Given the description of an element on the screen output the (x, y) to click on. 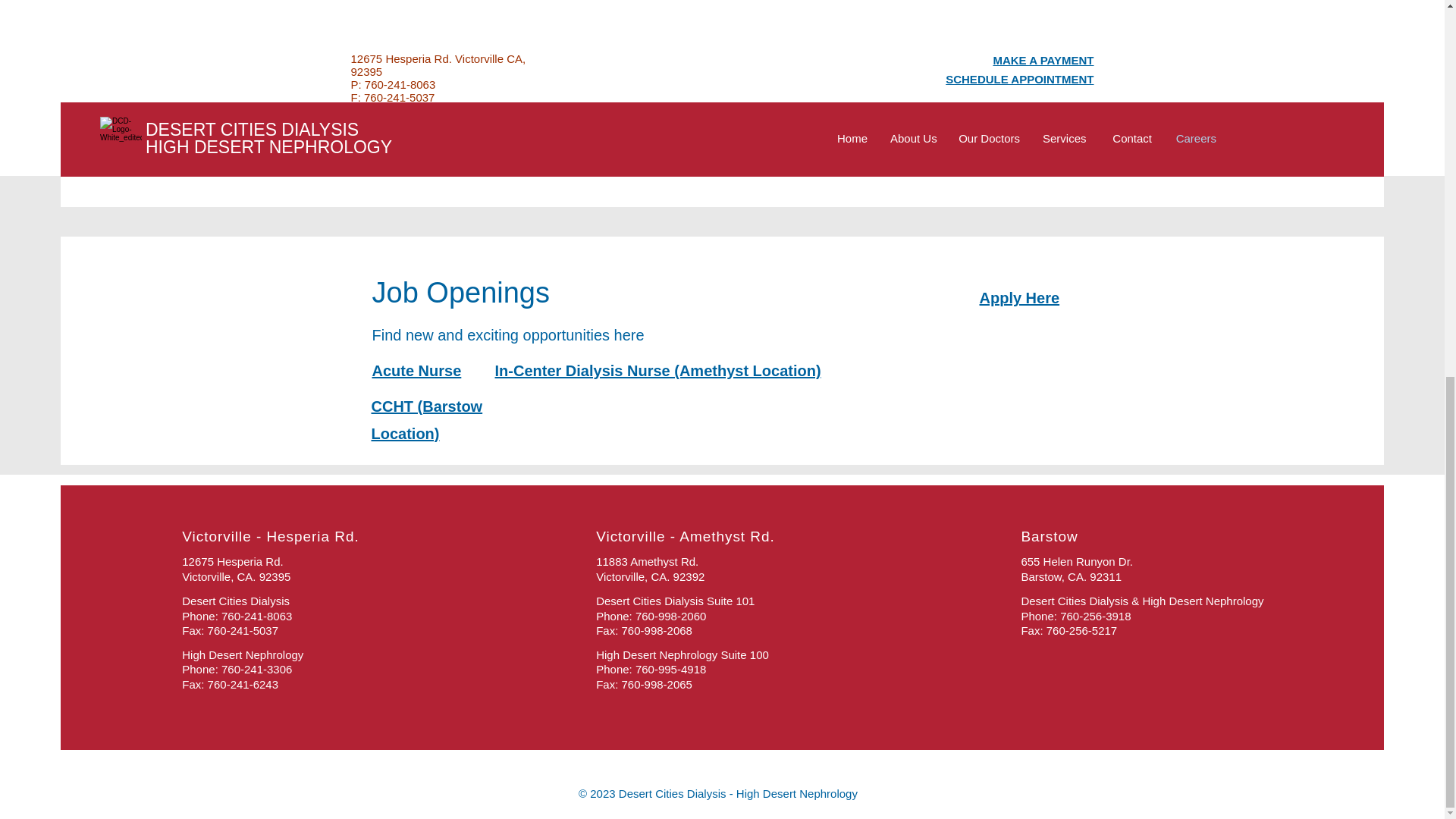
Apply Here (1019, 297)
Acute Nurse (416, 370)
